Given the description of an element on the screen output the (x, y) to click on. 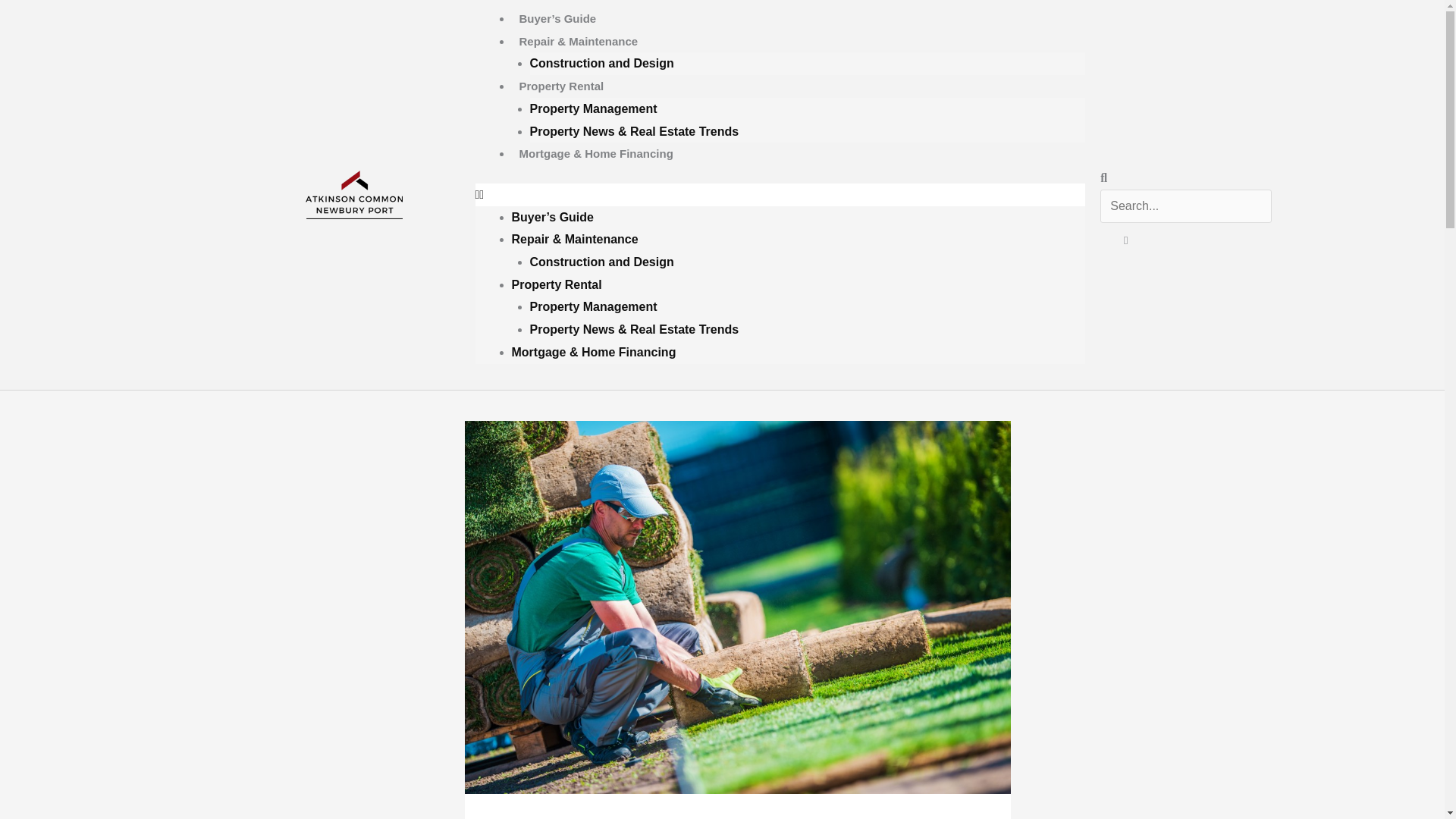
Construction and Design (600, 261)
Property Rental (561, 85)
Property Rental (556, 284)
Property Management (592, 306)
Construction and Design (600, 63)
Property Management (592, 108)
